Given the description of an element on the screen output the (x, y) to click on. 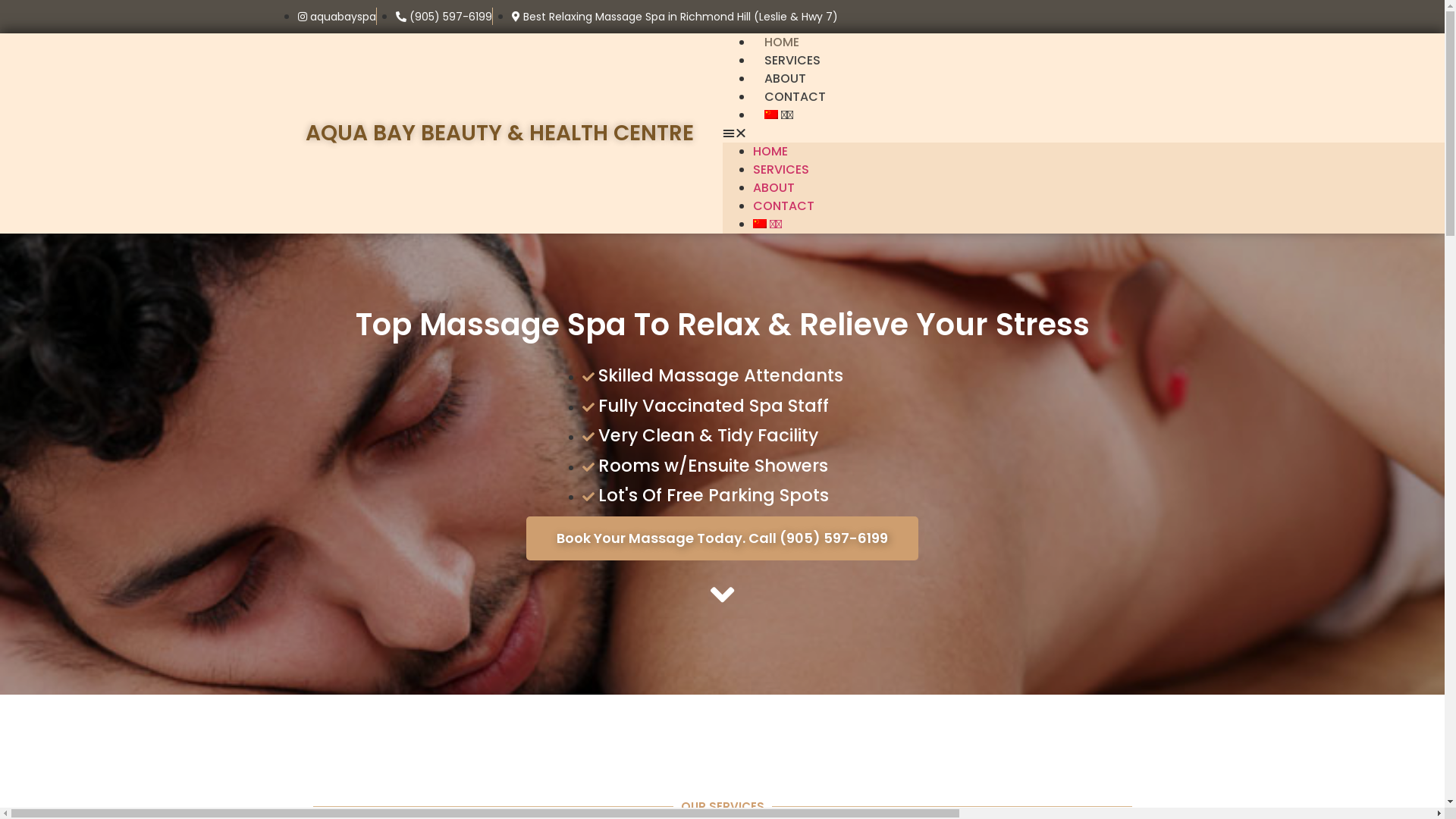
Best Relaxing Massage Spa in Richmond Hill (Leslie & Hwy 7) Element type: text (674, 16)
HOME Element type: text (780, 41)
SERVICES Element type: text (780, 169)
Book Your Massage Today. Call (905) 597-6199 Element type: text (722, 537)
CONTACT Element type: text (782, 205)
aquabayspa Element type: text (336, 16)
ABOUT Element type: text (784, 78)
AQUA BAY BEAUTY & HEALTH CENTRE Element type: text (498, 132)
HOME Element type: text (769, 151)
ABOUT Element type: text (772, 187)
CONTACT Element type: text (794, 96)
(905) 597-6199 Element type: text (443, 16)
SERVICES Element type: text (791, 60)
